Given the description of an element on the screen output the (x, y) to click on. 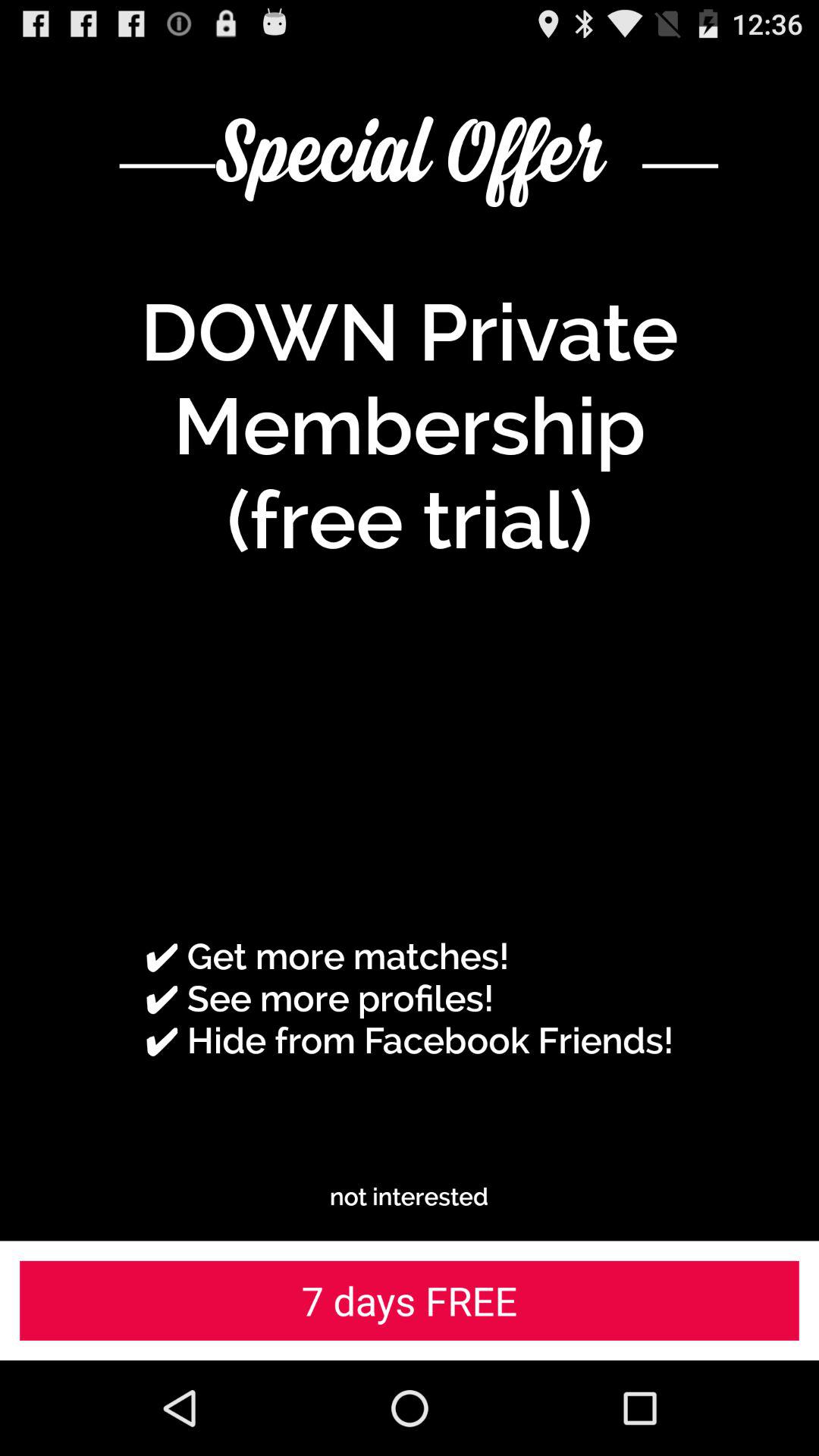
open not interested item (408, 1196)
